Given the description of an element on the screen output the (x, y) to click on. 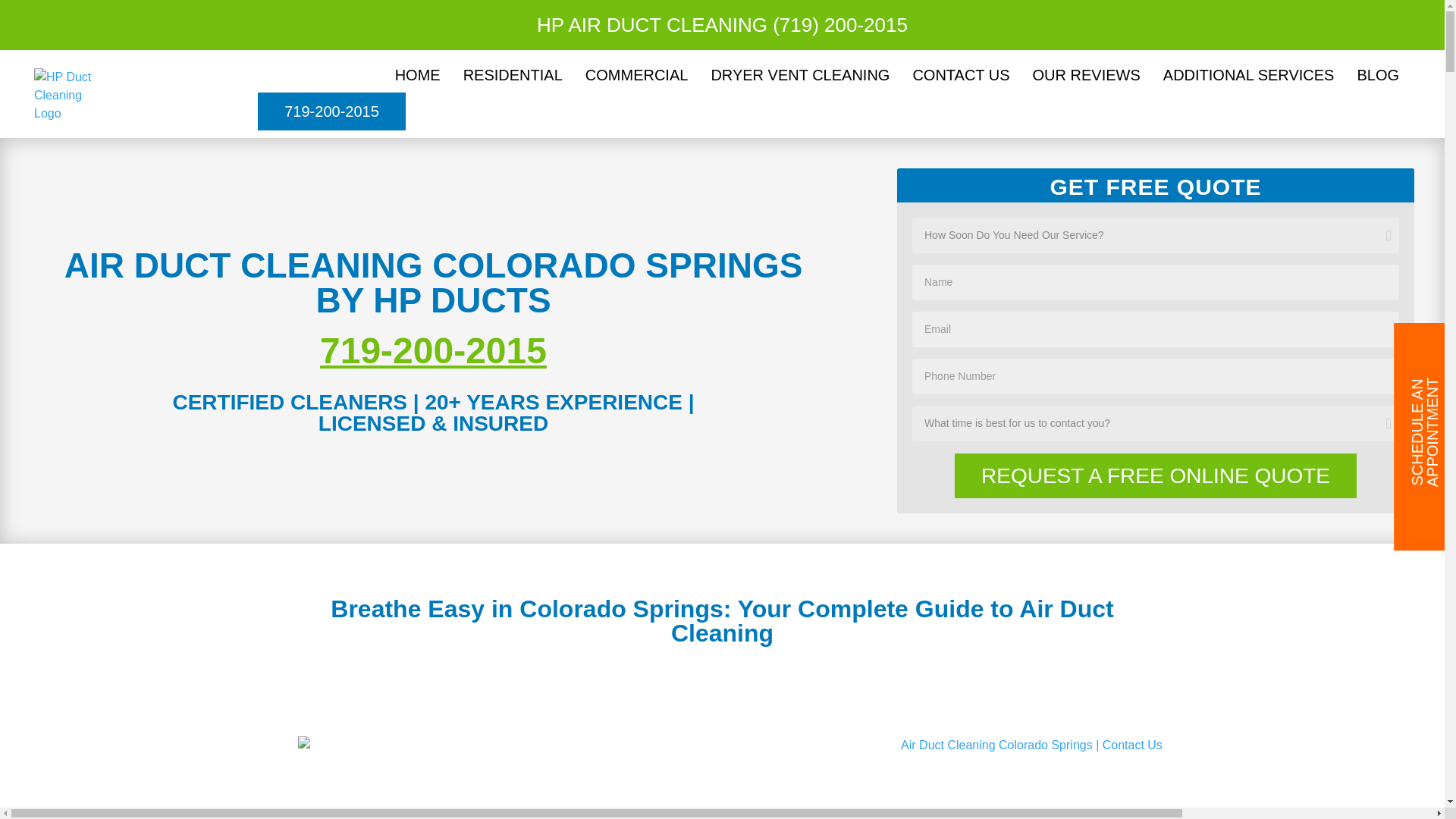
OUR REVIEWS (1086, 74)
CONTACT US (960, 74)
719-200-2015 (433, 350)
DRYER VENT CLEANING (799, 74)
719-200-2015 (331, 111)
REQUEST A FREE ONLINE QUOTE (1155, 475)
COMMERCIAL (636, 74)
RESIDENTIAL (512, 74)
ADDITIONAL SERVICES (1248, 74)
HOME (417, 74)
